Given the description of an element on the screen output the (x, y) to click on. 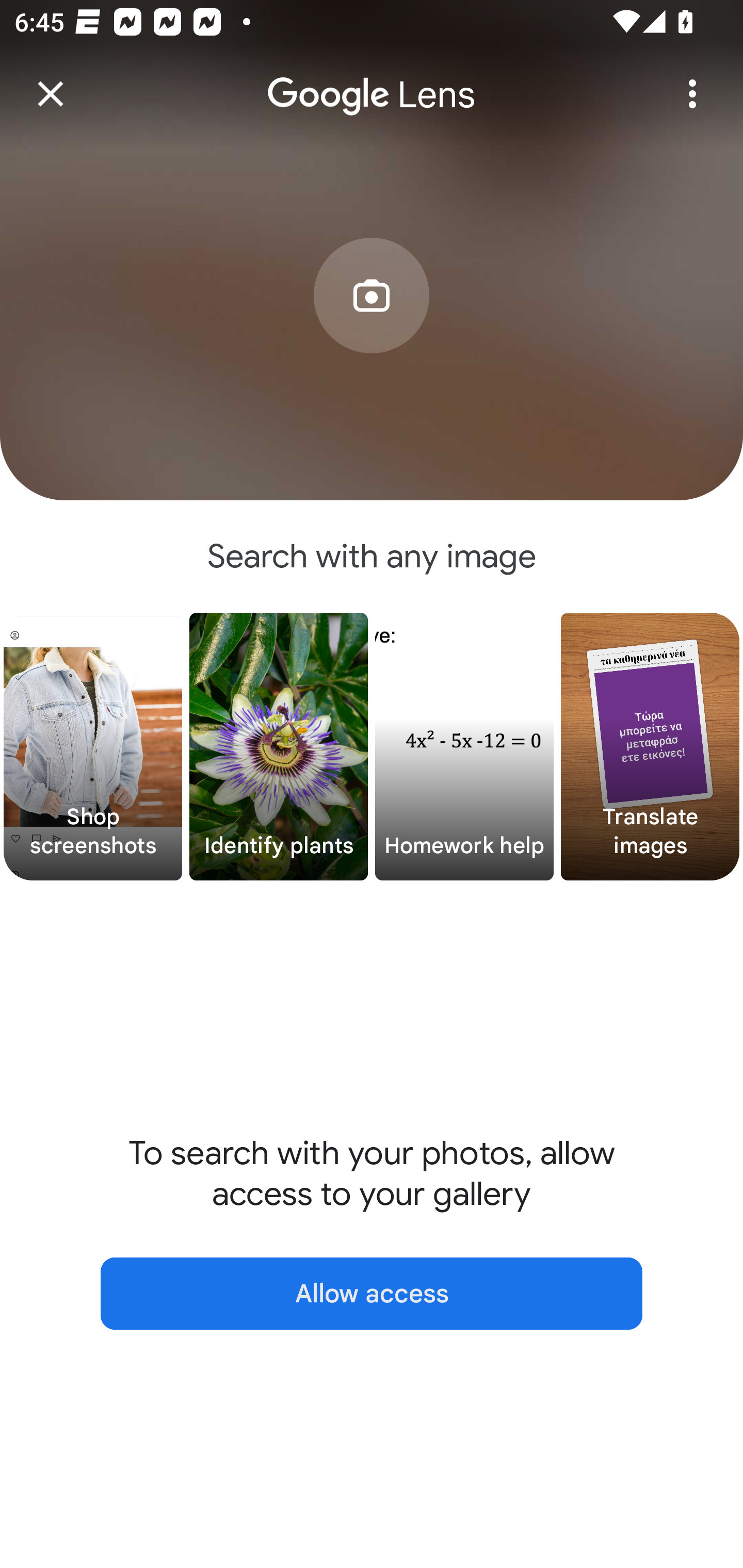
Google Lens Lens (371, 80)
Close (50, 94)
More options (692, 94)
Search with your camera (371, 326)
Shop screenshots (92, 747)
Identify plants (278, 747)
Homework help (464, 747)
Translate images (649, 747)
Allow access (371, 1293)
